Given the description of an element on the screen output the (x, y) to click on. 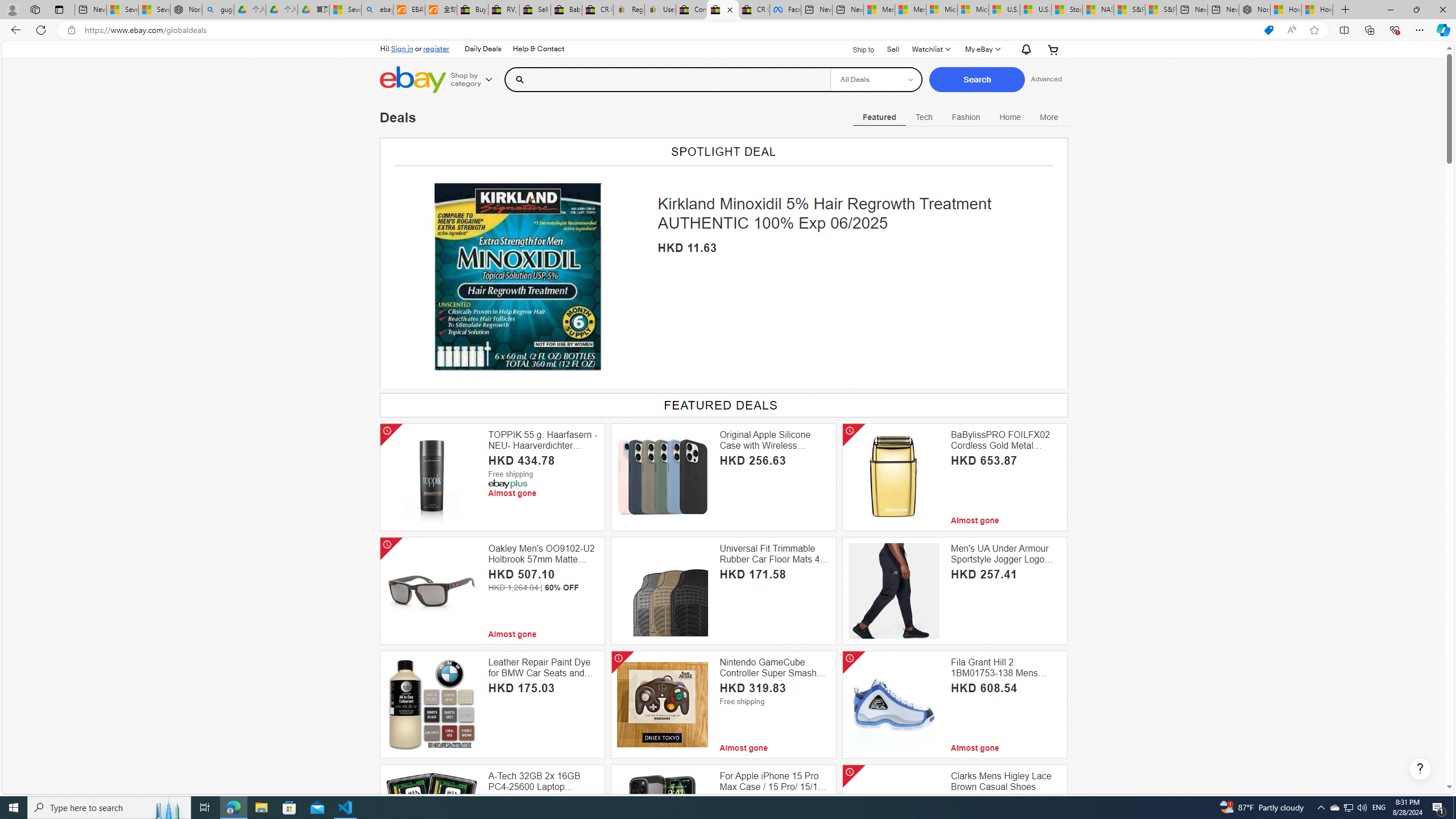
Sell (892, 49)
Your shopping cart (1052, 49)
guge yunpan - Search (218, 9)
Facebook (785, 9)
S&P 500, Nasdaq end lower, weighed by Nvidia dip | Watch (1160, 9)
My eBayExpand My eBay (982, 49)
eBay Home (413, 79)
Address and search bar (669, 29)
RV, Trailer & Camper Steps & Ladders for sale | eBay (503, 9)
